Given the description of an element on the screen output the (x, y) to click on. 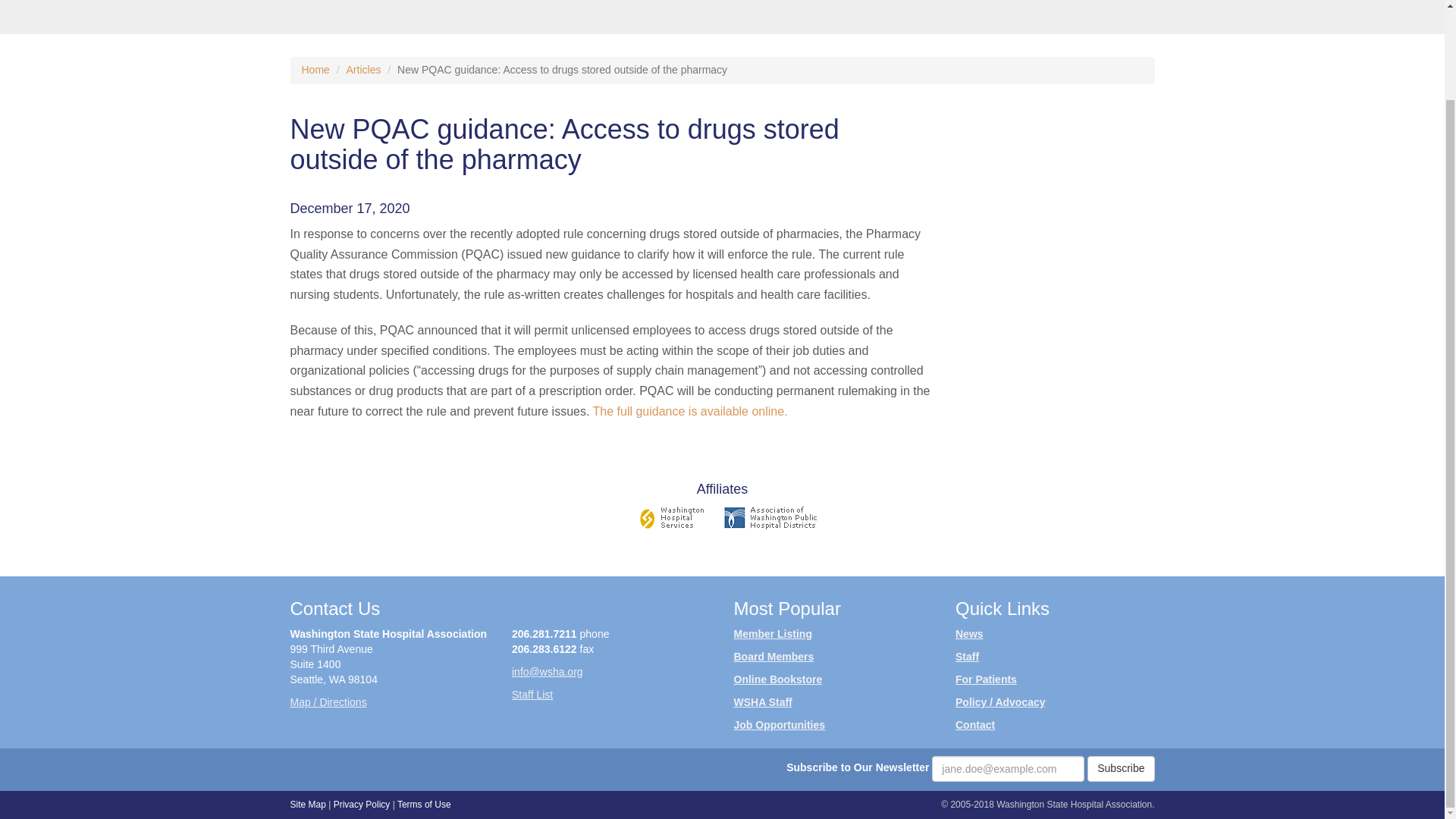
Subscribe (1120, 768)
